Given the description of an element on the screen output the (x, y) to click on. 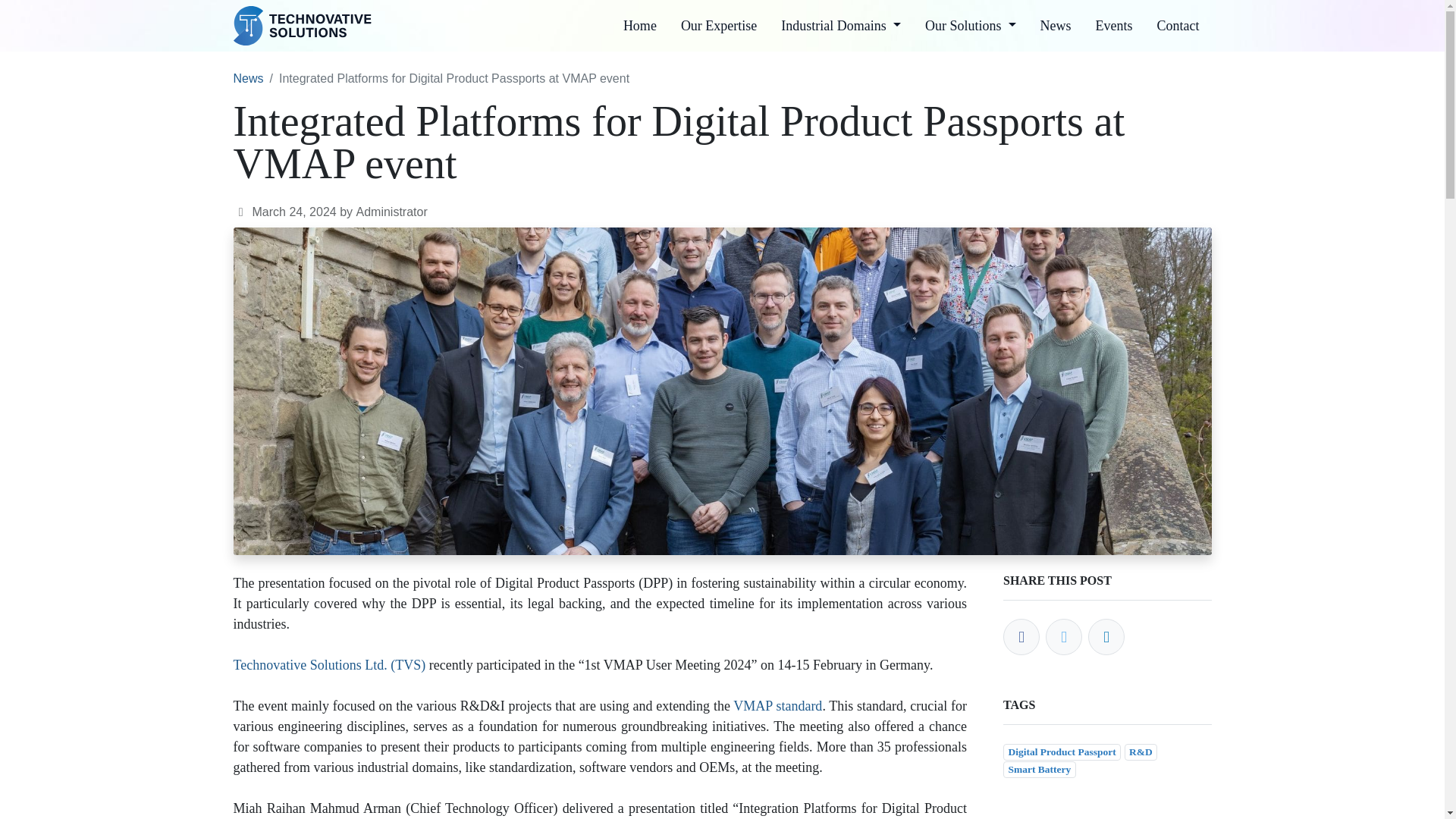
Home (639, 26)
Our Expertise (718, 26)
Share on Twitter (1063, 637)
Digital Product Passport (1062, 751)
Smart Battery (1039, 769)
Industrial Domains (840, 26)
Share on LinkedIn (1105, 637)
Our Solutions (969, 26)
Contact (1177, 26)
LinkedIn (1106, 637)
Share on Facebook (1021, 637)
News (1055, 26)
VMAP standard (777, 705)
News (247, 78)
Events (1113, 26)
